Given the description of an element on the screen output the (x, y) to click on. 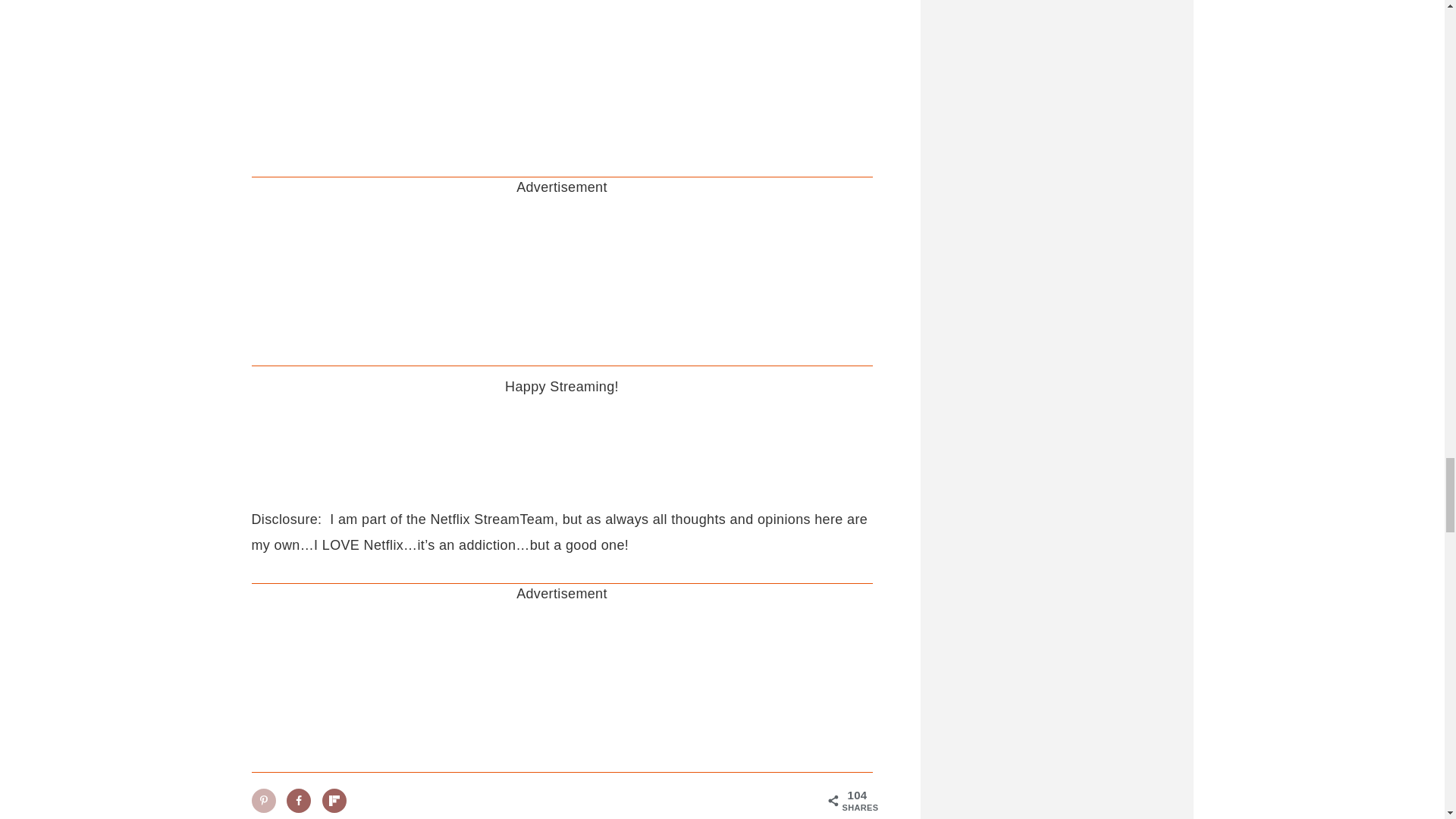
Share on Facebook (298, 800)
Share on Flipboard (333, 800)
Save to Pinterest (263, 800)
